Given the description of an element on the screen output the (x, y) to click on. 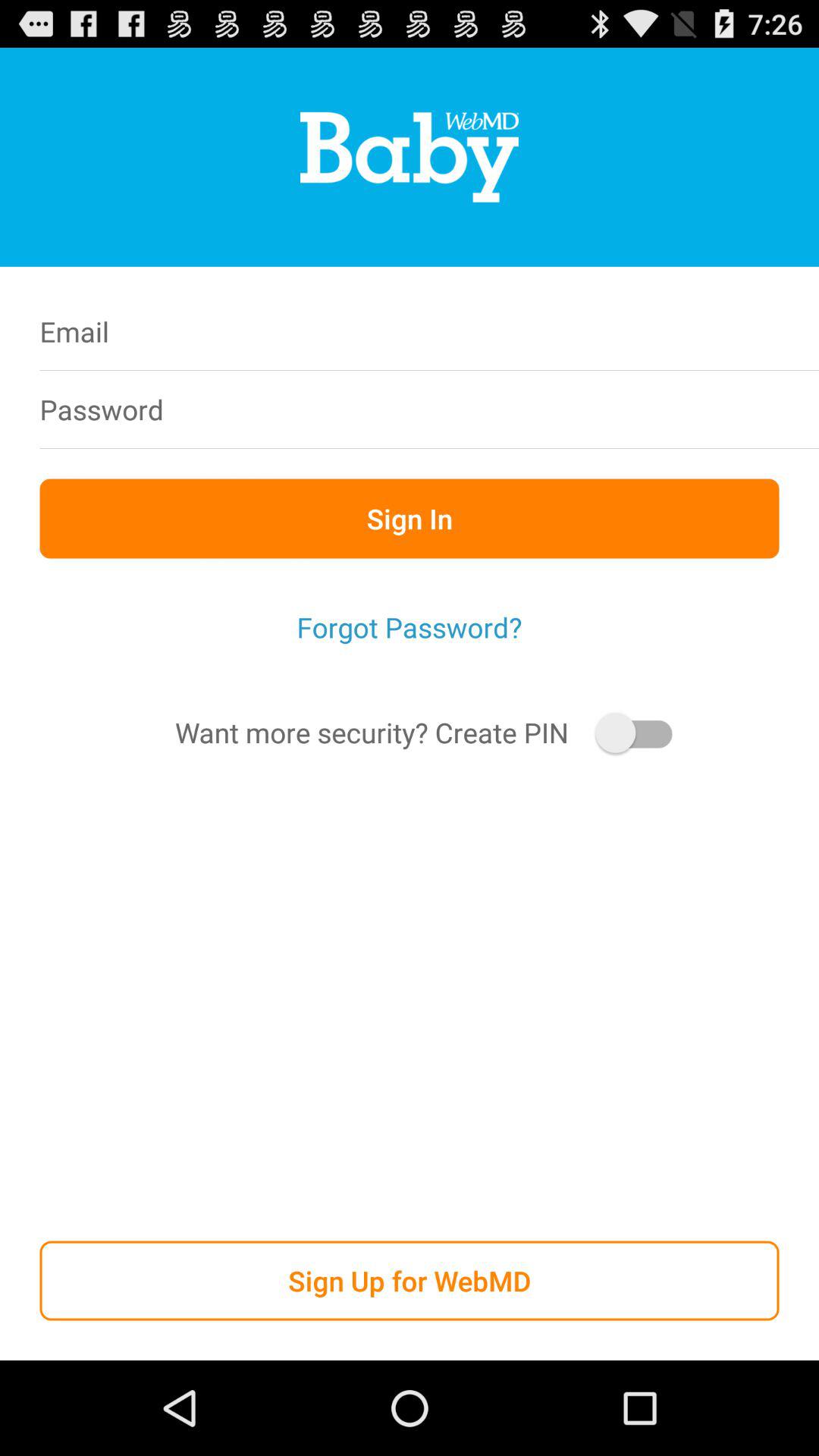
launch icon to the right of the password icon (507, 409)
